Given the description of an element on the screen output the (x, y) to click on. 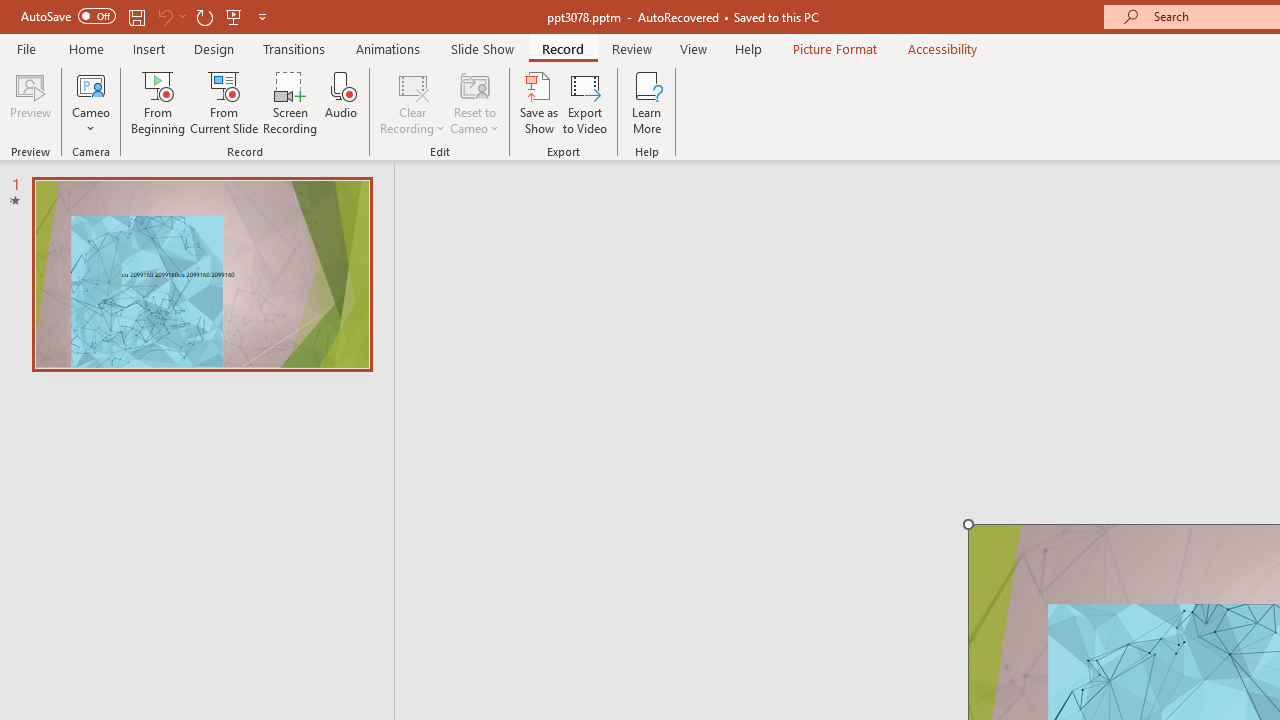
Audio (341, 102)
